Given the description of an element on the screen output the (x, y) to click on. 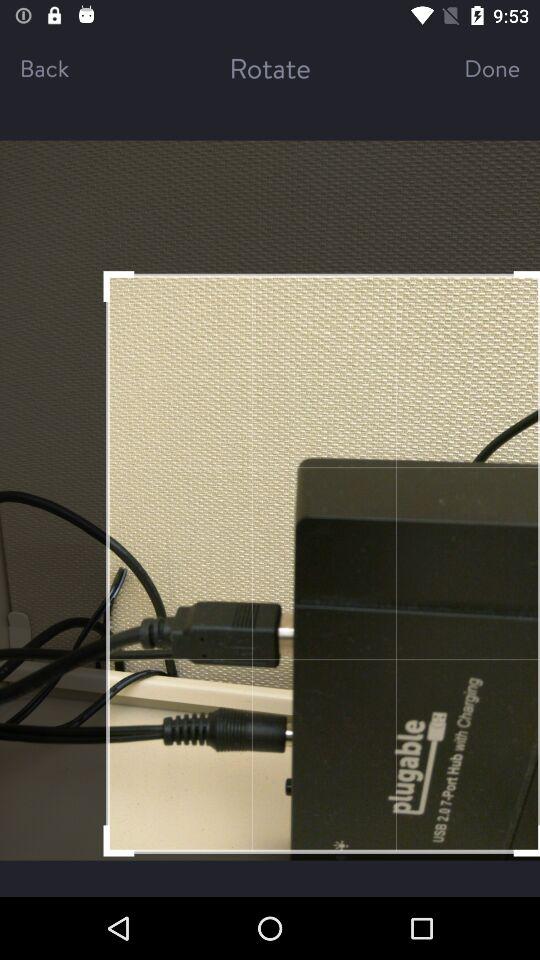
scroll to done (474, 67)
